Given the description of an element on the screen output the (x, y) to click on. 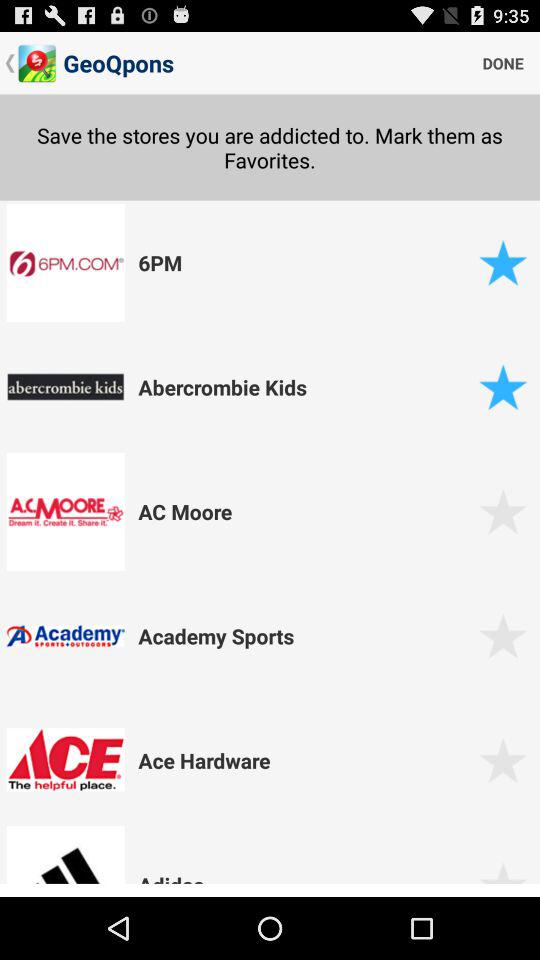
tap the item to the right of the geoqpons item (503, 62)
